Given the description of an element on the screen output the (x, y) to click on. 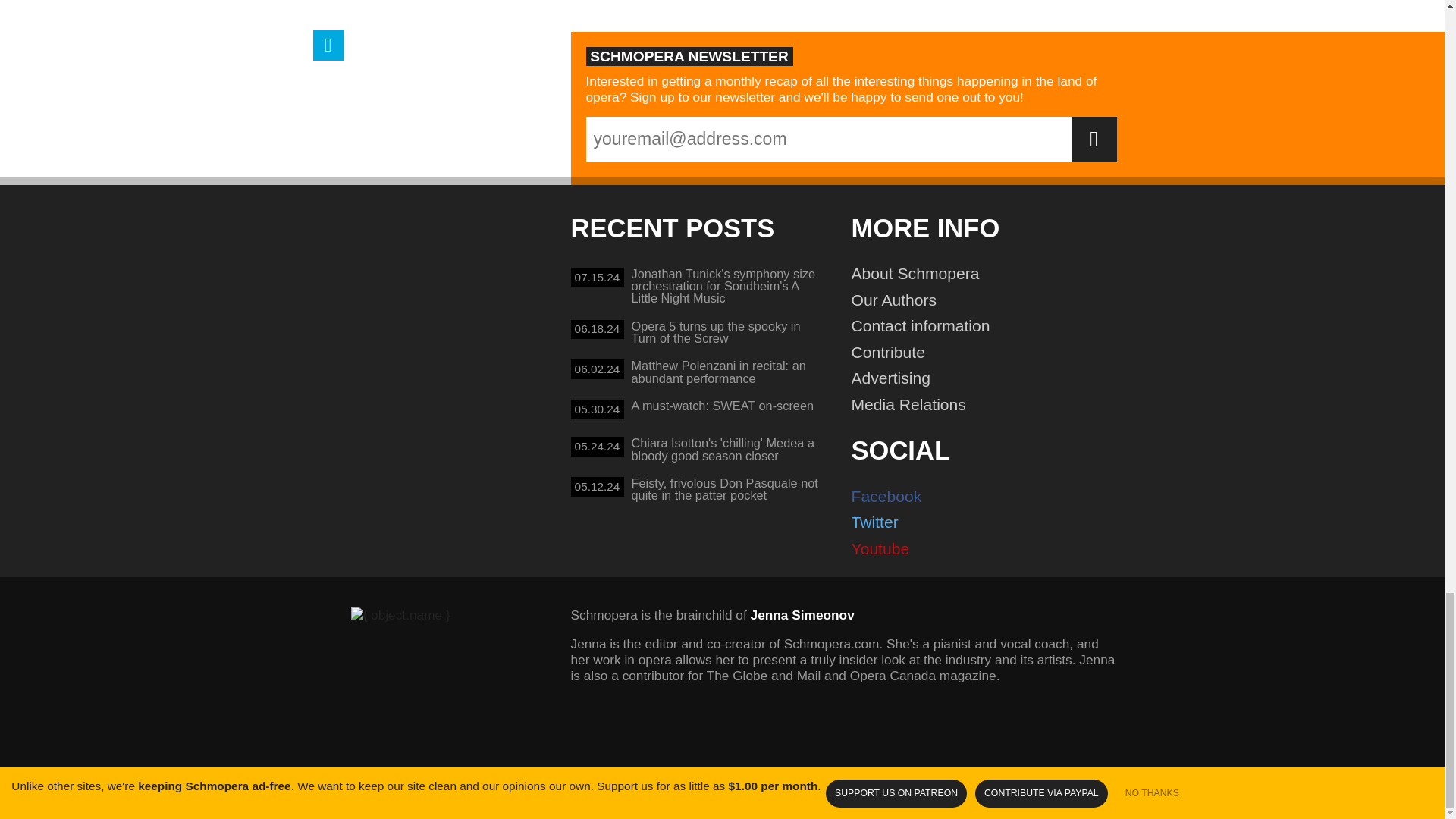
Youtube (990, 549)
Advertising (990, 378)
About Schmopera (990, 274)
Twitter (696, 334)
Media Relations (990, 522)
Our Authors (990, 405)
Contact information (990, 300)
Facebook (990, 325)
Back to home page (990, 497)
